Given the description of an element on the screen output the (x, y) to click on. 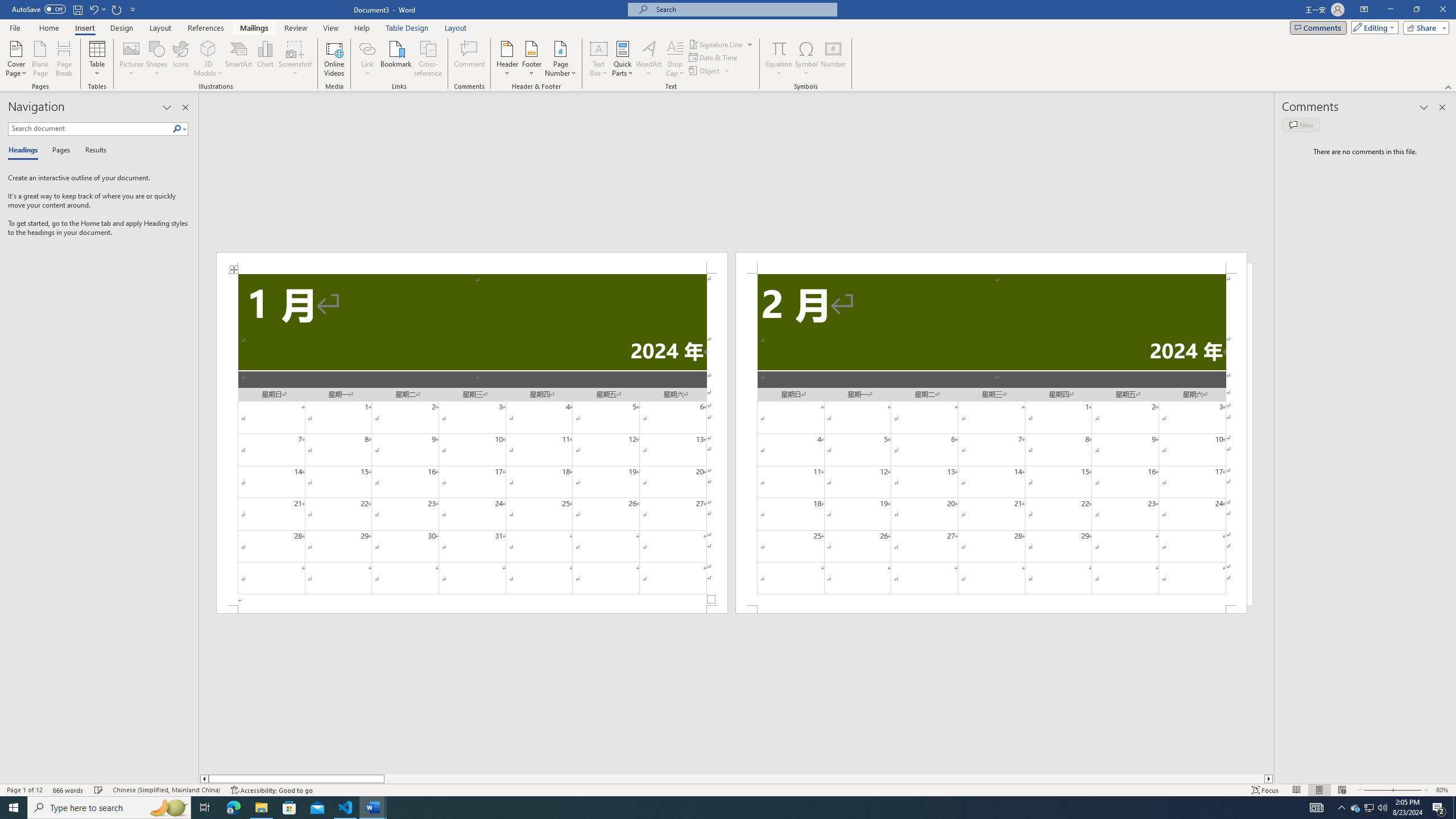
Cross-reference... (428, 58)
Bookmark... (396, 58)
Online Videos... (333, 58)
3D Models (208, 58)
Header -Section 1- (471, 263)
Number... (833, 58)
Pictures (131, 58)
Footer (531, 58)
Header -Section 2- (991, 263)
